Given the description of an element on the screen output the (x, y) to click on. 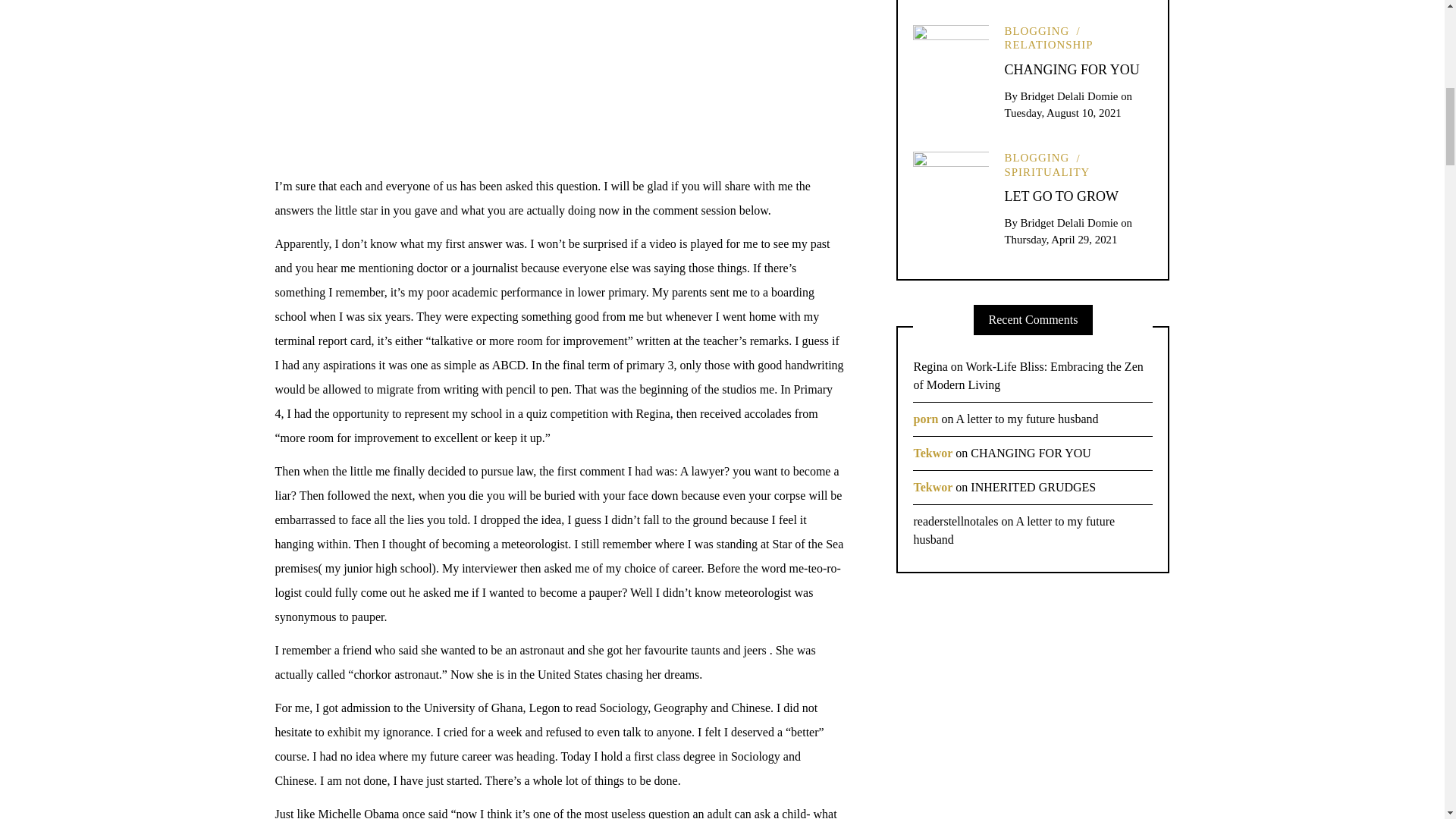
Permalink to: "CHANGING FOR YOU" (950, 60)
Permalink to CHANGING FOR YOU (1071, 69)
